Given the description of an element on the screen output the (x, y) to click on. 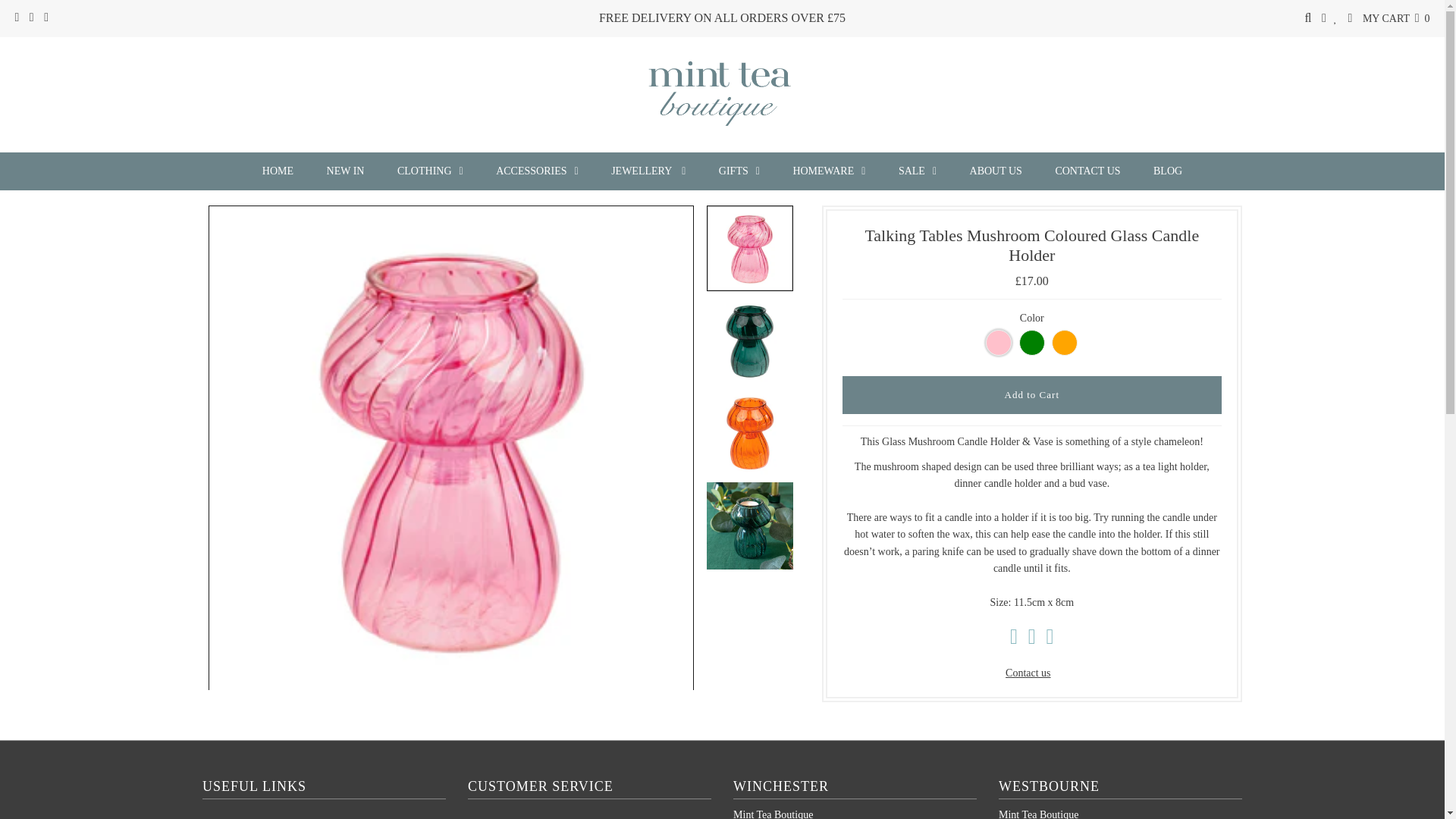
NEW IN (345, 171)
Add to Cart (1032, 394)
JEWELLERY (647, 171)
CLOTHING (430, 171)
HOME (277, 171)
ACCESSORIES (536, 171)
MY CART    0 (1395, 18)
